Given the description of an element on the screen output the (x, y) to click on. 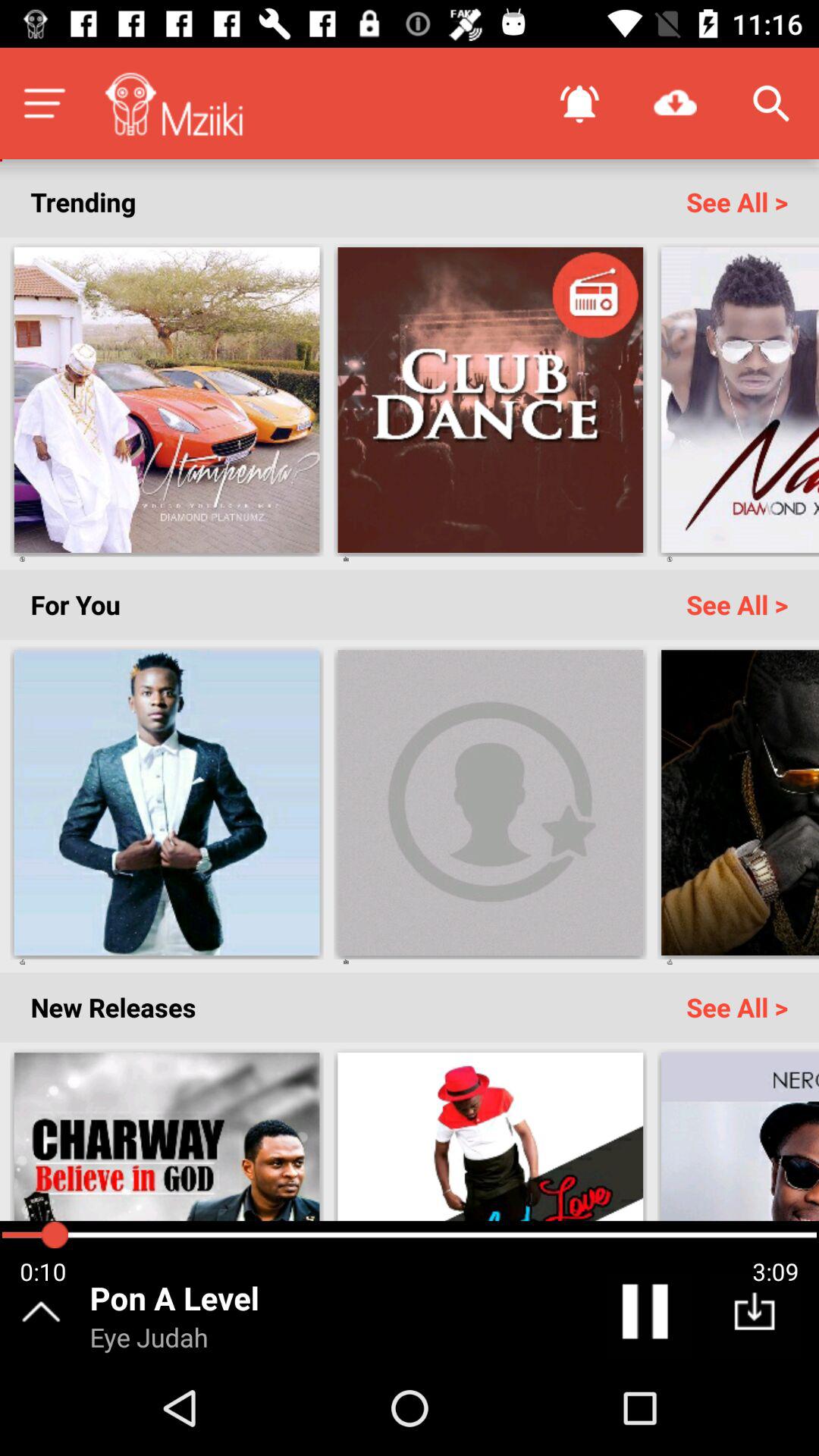
pause (647, 1315)
